Given the description of an element on the screen output the (x, y) to click on. 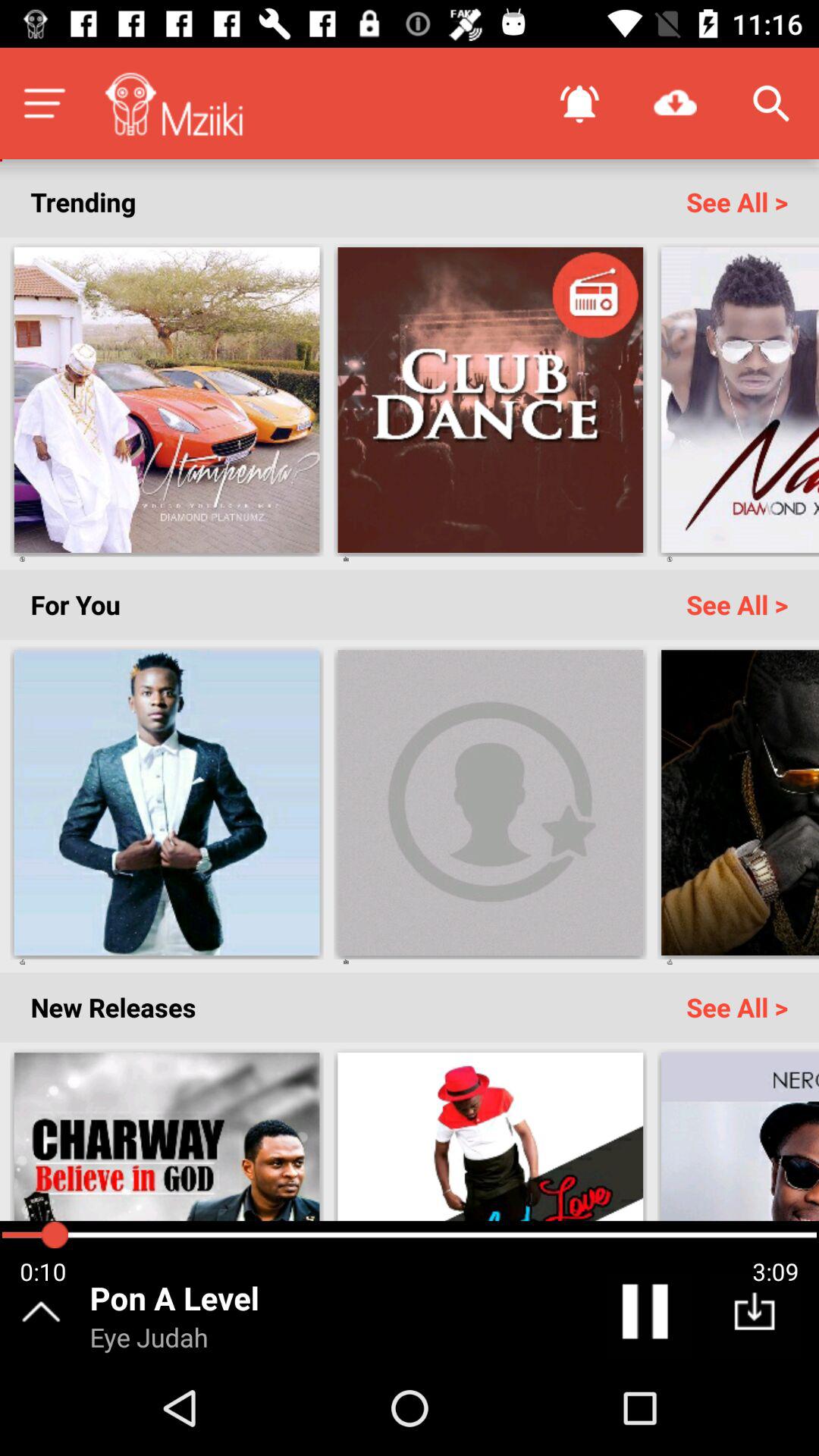
pause (647, 1315)
